Given the description of an element on the screen output the (x, y) to click on. 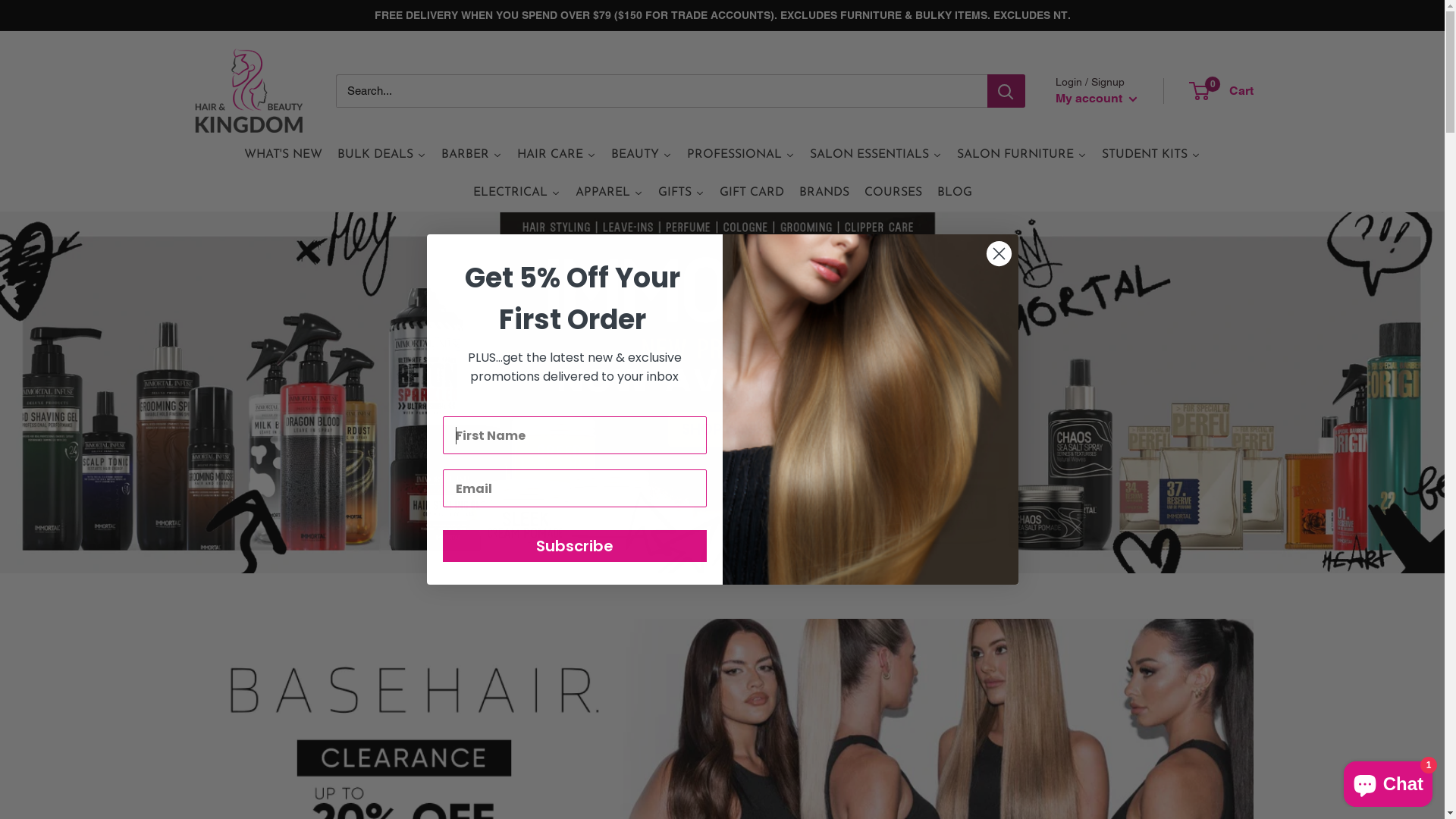
BEAUTY Element type: text (641, 154)
Submit Element type: text (18, 7)
SALON FURNITURE Element type: text (1021, 154)
GIFTS Element type: text (681, 192)
STUDENT KITS Element type: text (1151, 154)
0
Cart Element type: text (1221, 90)
BULK DEALS Element type: text (381, 154)
COURSES Element type: text (892, 192)
GIFT CARD Element type: text (750, 192)
SALON ESSENTIALS Element type: text (875, 154)
Subscribe Element type: text (574, 545)
WHAT'S NEW Element type: text (282, 154)
ELECTRICAL Element type: text (516, 192)
BRANDS Element type: text (823, 192)
Close dialog 1 Element type: text (998, 253)
BARBER Element type: text (471, 154)
BLOG Element type: text (954, 192)
PROFESSIONAL Element type: text (740, 154)
HAIR CARE Element type: text (556, 154)
APPAREL Element type: text (608, 192)
Shopify online store chat Element type: hover (1388, 780)
My account Element type: text (1096, 98)
